Given the description of an element on the screen output the (x, y) to click on. 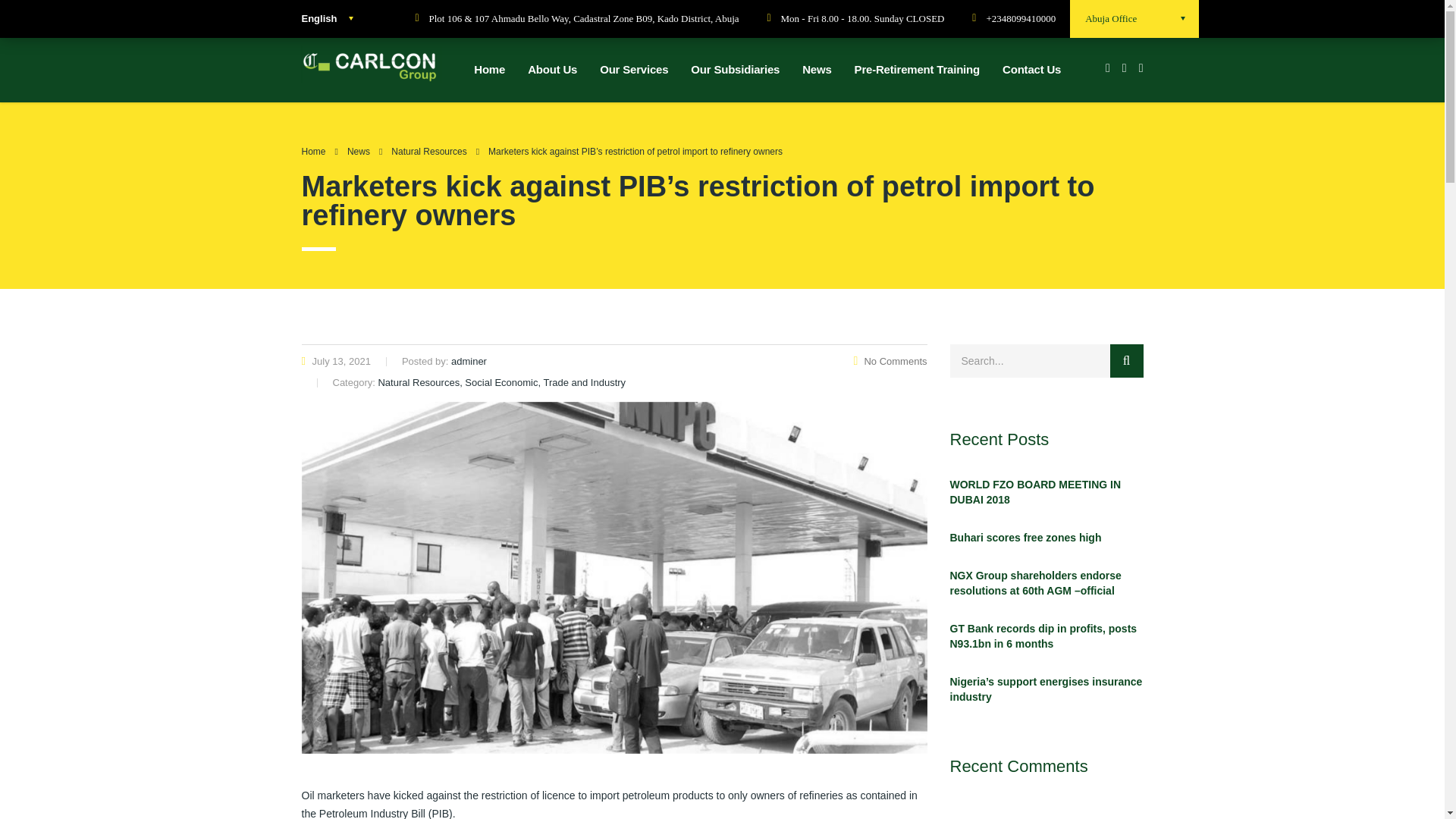
Natural Resources (428, 151)
Home (489, 69)
Contact Us (1031, 69)
News (816, 69)
Our Subsidiaries (734, 69)
Our Services (633, 69)
About Us (552, 69)
GT Bank records dip in profits, posts N93.1bn in 6 months (1045, 635)
Mon - Fri 8.00 - 18.00. Sunday CLOSED (842, 19)
News (358, 151)
Buhari scores free zones high (1045, 537)
WORLD FZO BOARD MEETING IN DUBAI 2018 (1045, 491)
Go to the Natural Resources category archives. (428, 151)
Home (313, 151)
Go to News. (358, 151)
